Given the description of an element on the screen output the (x, y) to click on. 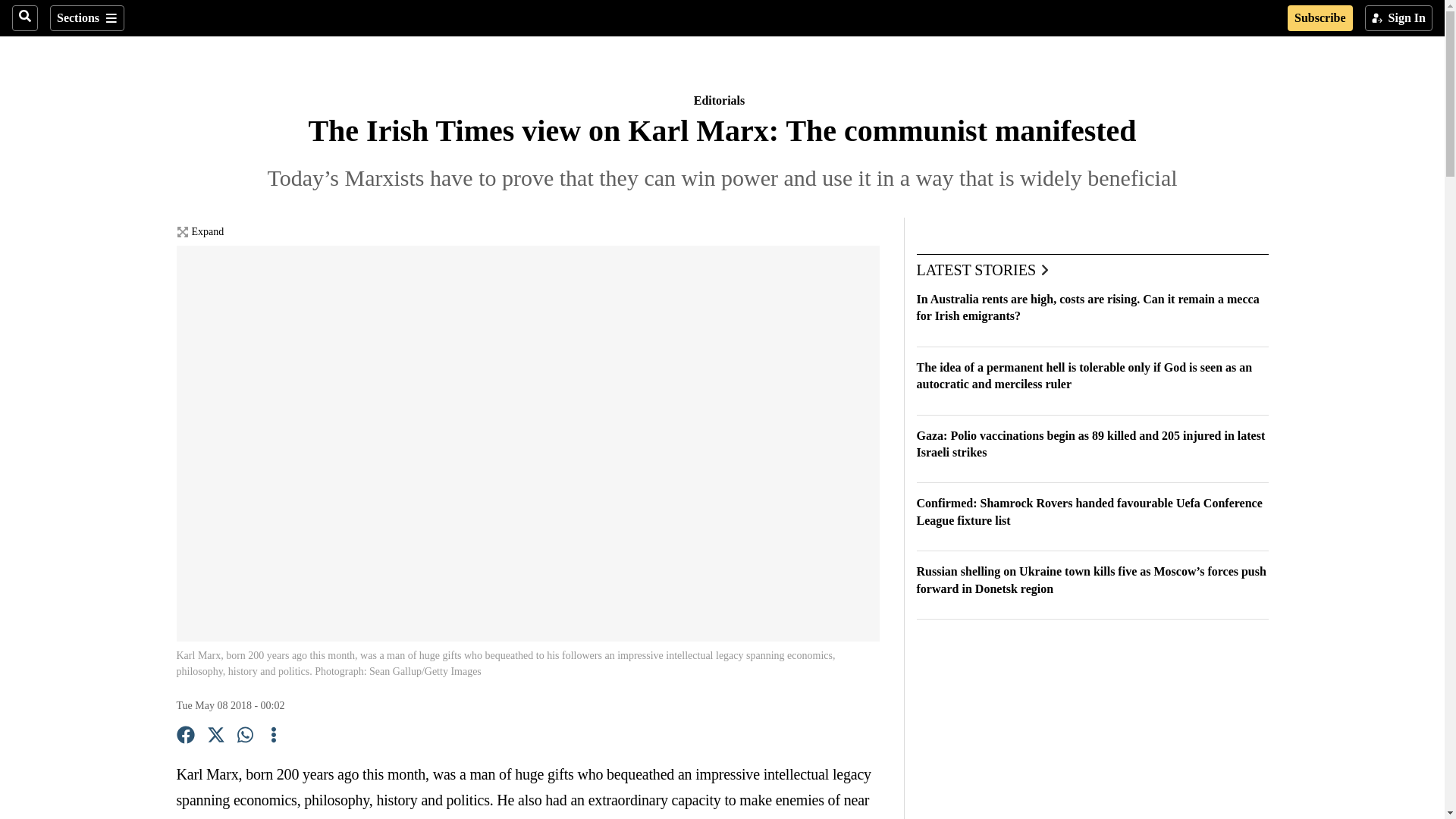
Sections (86, 17)
Sign In (1398, 17)
Subscribe (1319, 17)
